Given the description of an element on the screen output the (x, y) to click on. 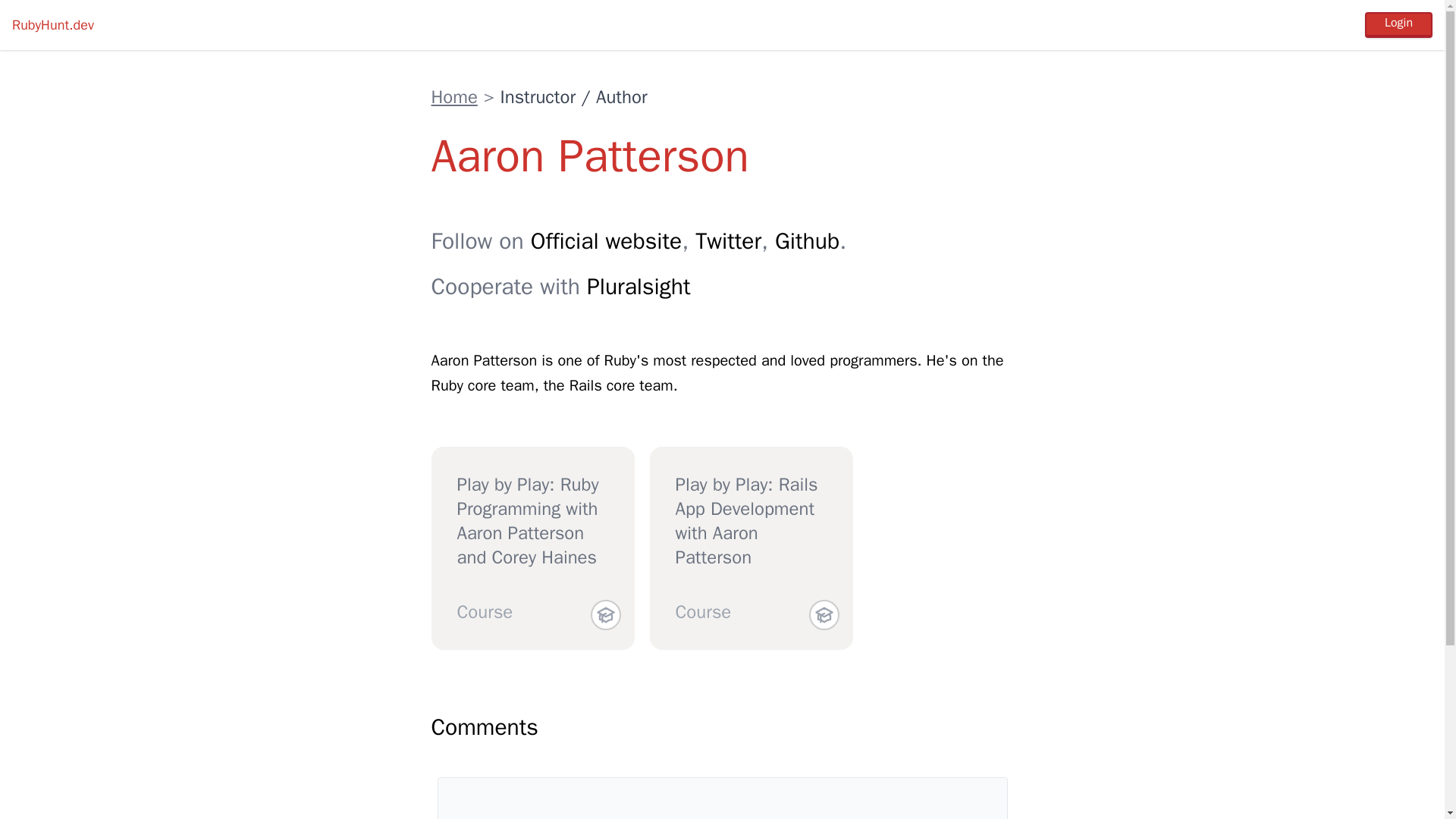
Official website (606, 240)
Pluralsight (638, 286)
Login (1398, 24)
Login (1398, 24)
Twitter (728, 240)
Github (807, 240)
Home (453, 96)
RubyHunt.dev (52, 24)
